Given the description of an element on the screen output the (x, y) to click on. 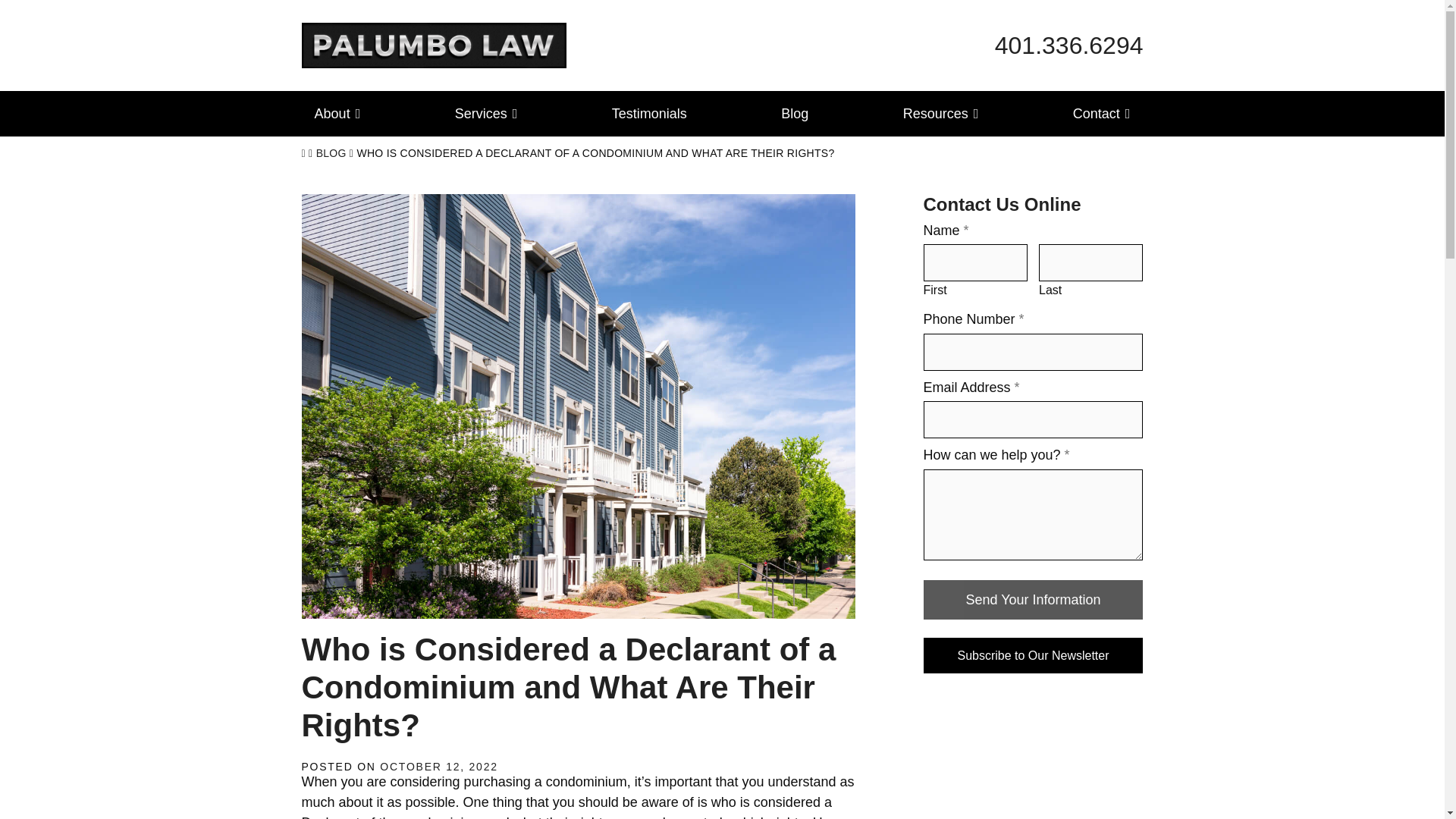
Return home (434, 44)
Services (1068, 44)
Skip to content (486, 113)
